Given the description of an element on the screen output the (x, y) to click on. 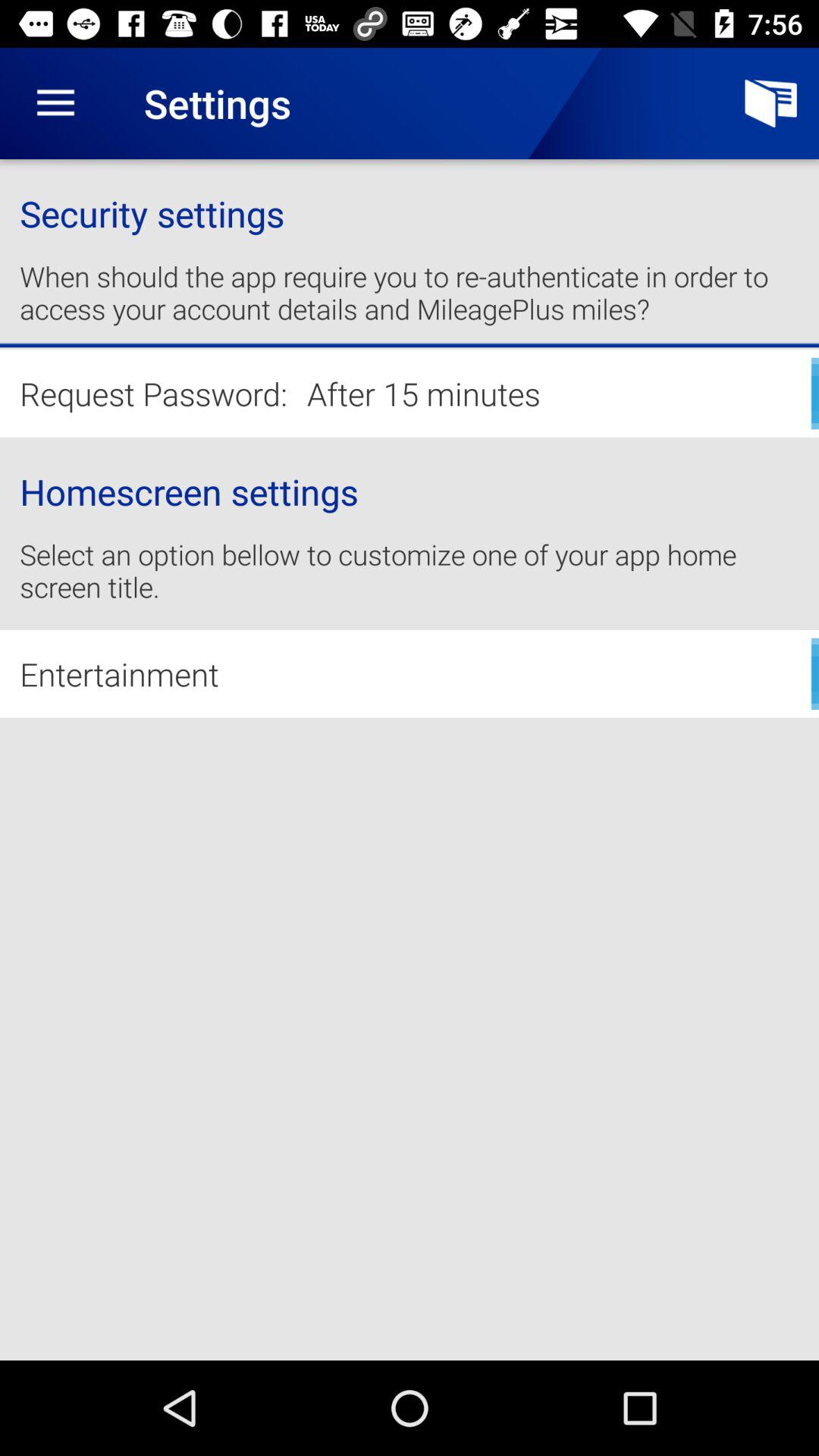
launch icon above security settings item (771, 103)
